Given the description of an element on the screen output the (x, y) to click on. 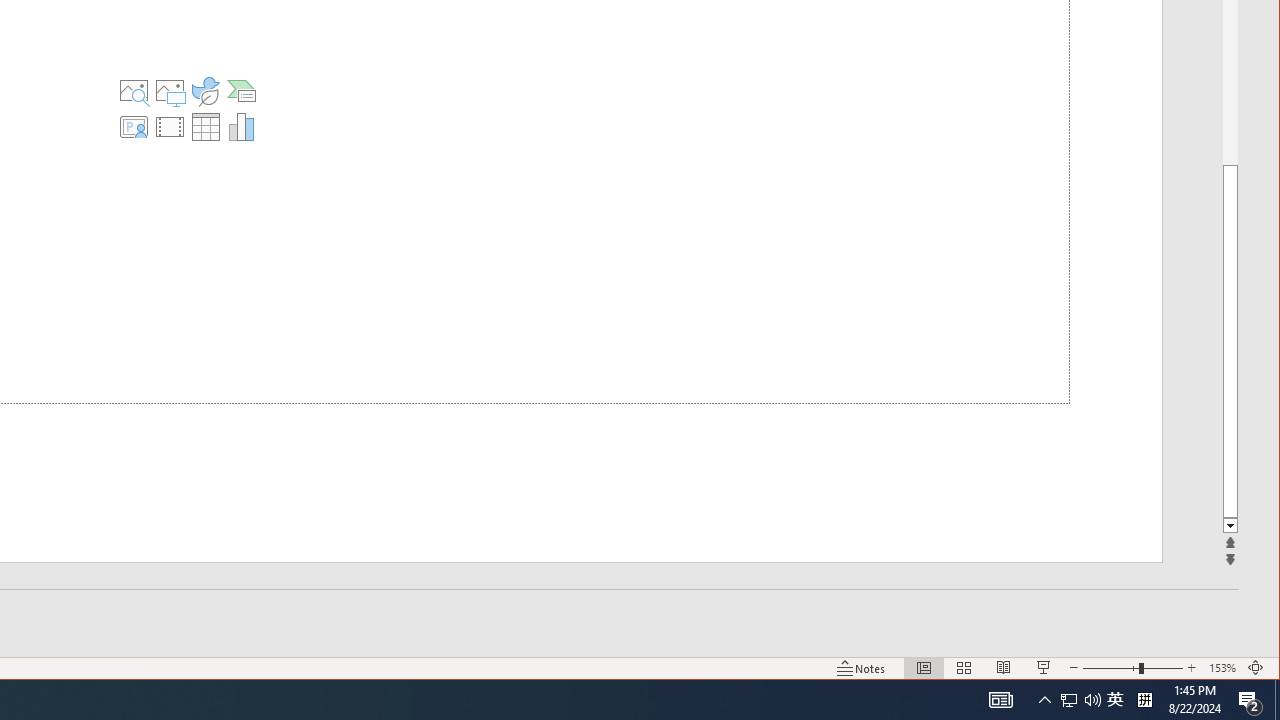
Zoom 153% (1222, 668)
